Given the description of an element on the screen output the (x, y) to click on. 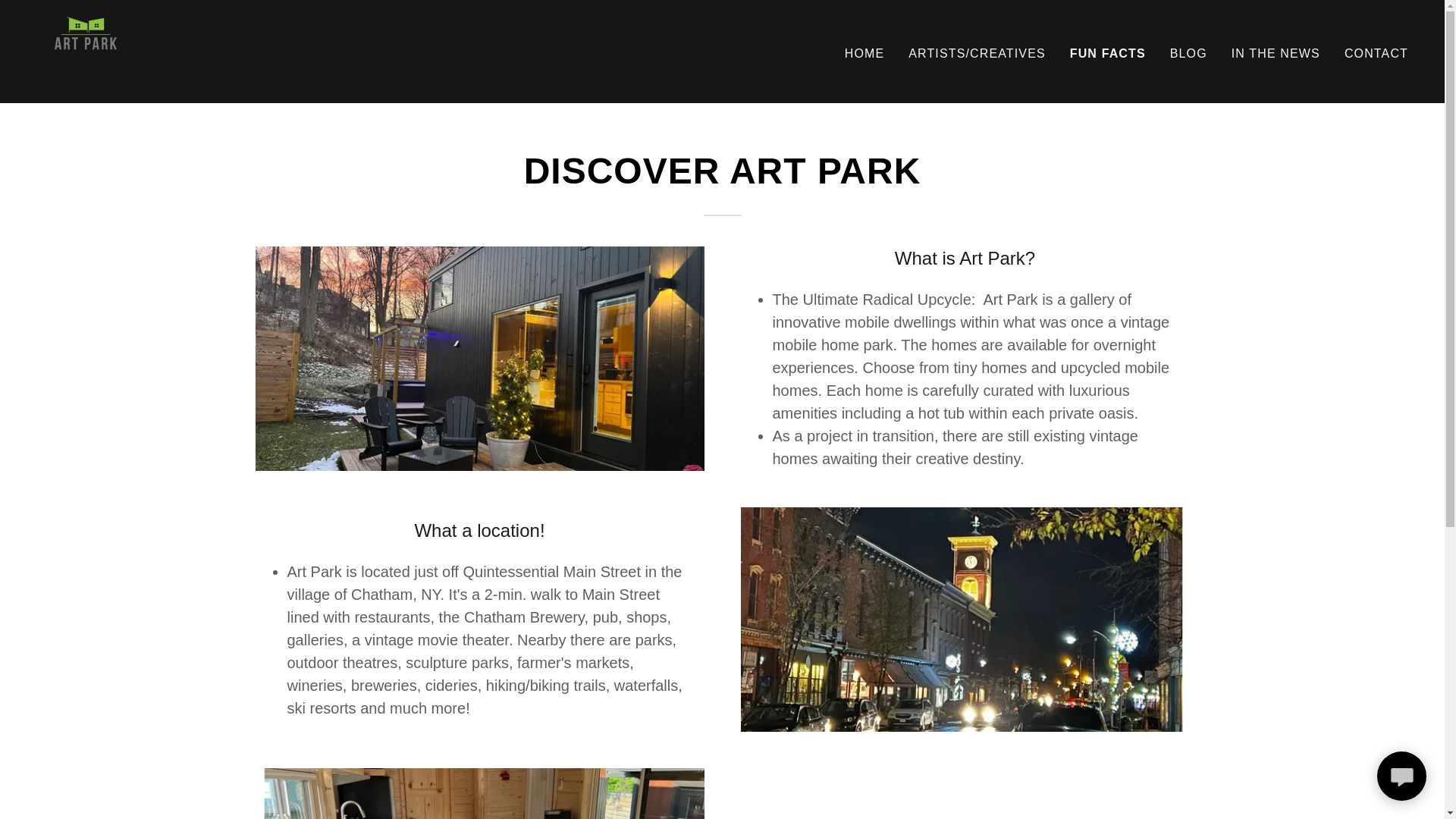
FUN FACTS (1107, 53)
HOME (864, 52)
BLOG (1188, 52)
CONTACT (1375, 52)
Art Park HOMES in the Hudson Valley (85, 50)
IN THE NEWS (1275, 52)
